Given the description of an element on the screen output the (x, y) to click on. 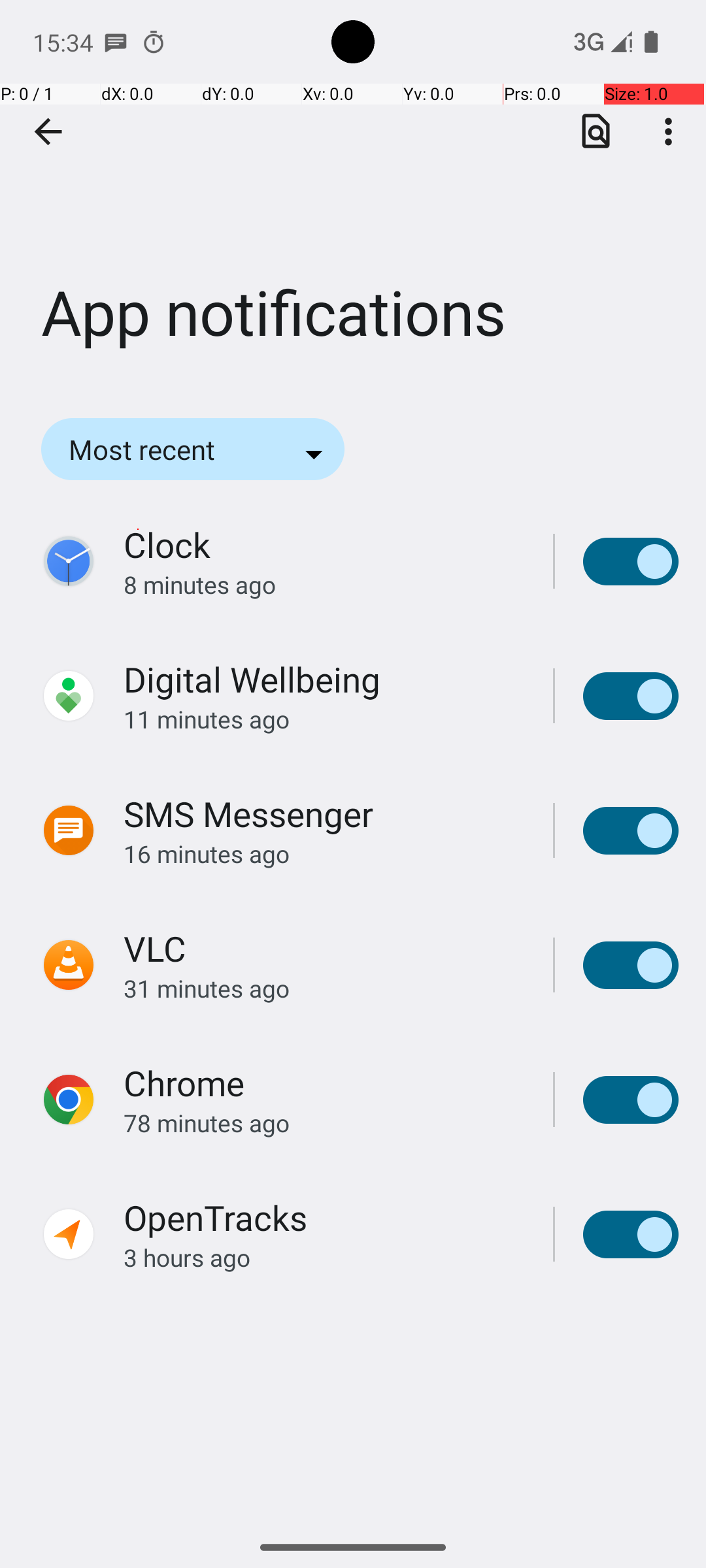
8 minutes ago Element type: android.widget.TextView (324, 584)
11 minutes ago Element type: android.widget.TextView (324, 718)
16 minutes ago Element type: android.widget.TextView (324, 853)
31 minutes ago Element type: android.widget.TextView (324, 987)
78 minutes ago Element type: android.widget.TextView (324, 1122)
3 hours ago Element type: android.widget.TextView (324, 1257)
